Given the description of an element on the screen output the (x, y) to click on. 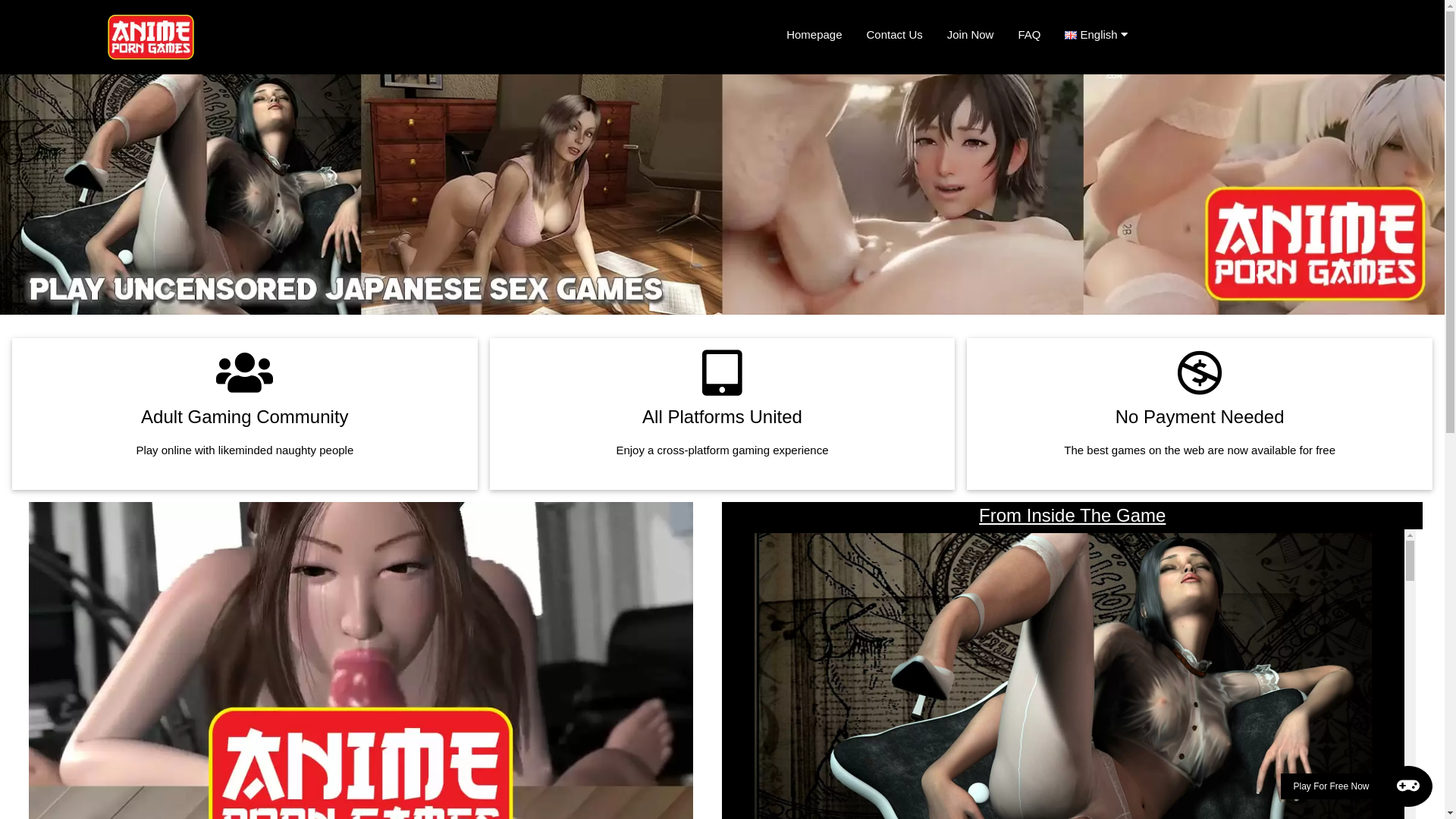
Homepage Element type: text (813, 35)
Play For Free Now Element type: text (1356, 785)
Join Now Element type: text (970, 35)
Contact Us Element type: text (894, 35)
English Element type: text (1101, 35)
FAQ Element type: text (1028, 35)
